Given the description of an element on the screen output the (x, y) to click on. 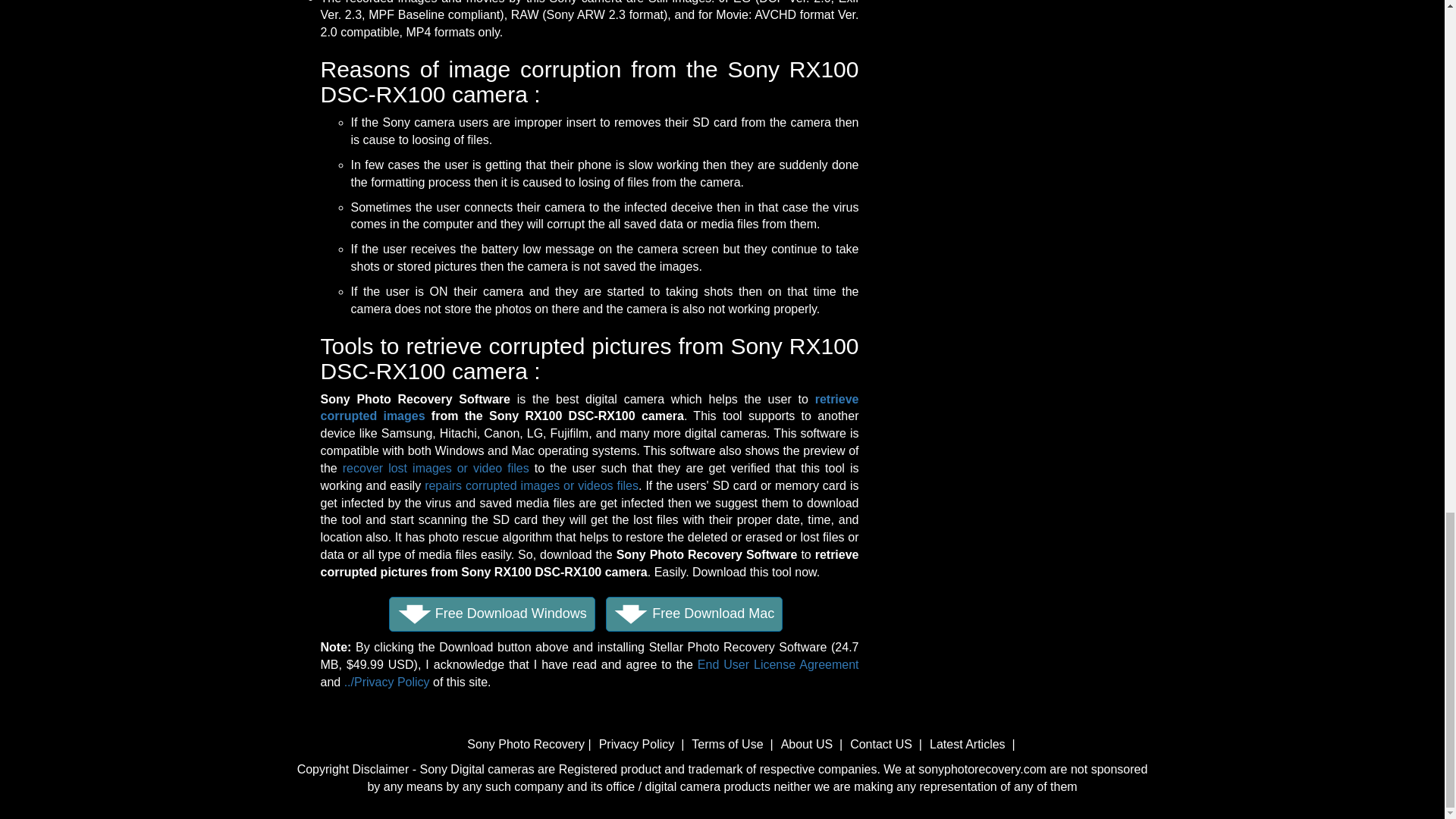
Privacy Policy (638, 744)
recover lost images or video files (435, 468)
Free Download Mac (694, 614)
repairs corrupted images or videos files (532, 485)
Sony Photo Recovery (527, 744)
Contact US (881, 744)
Terms of Use (726, 744)
About US (806, 744)
End User License Agreement (778, 664)
Free Download Windows (491, 614)
